Given the description of an element on the screen output the (x, y) to click on. 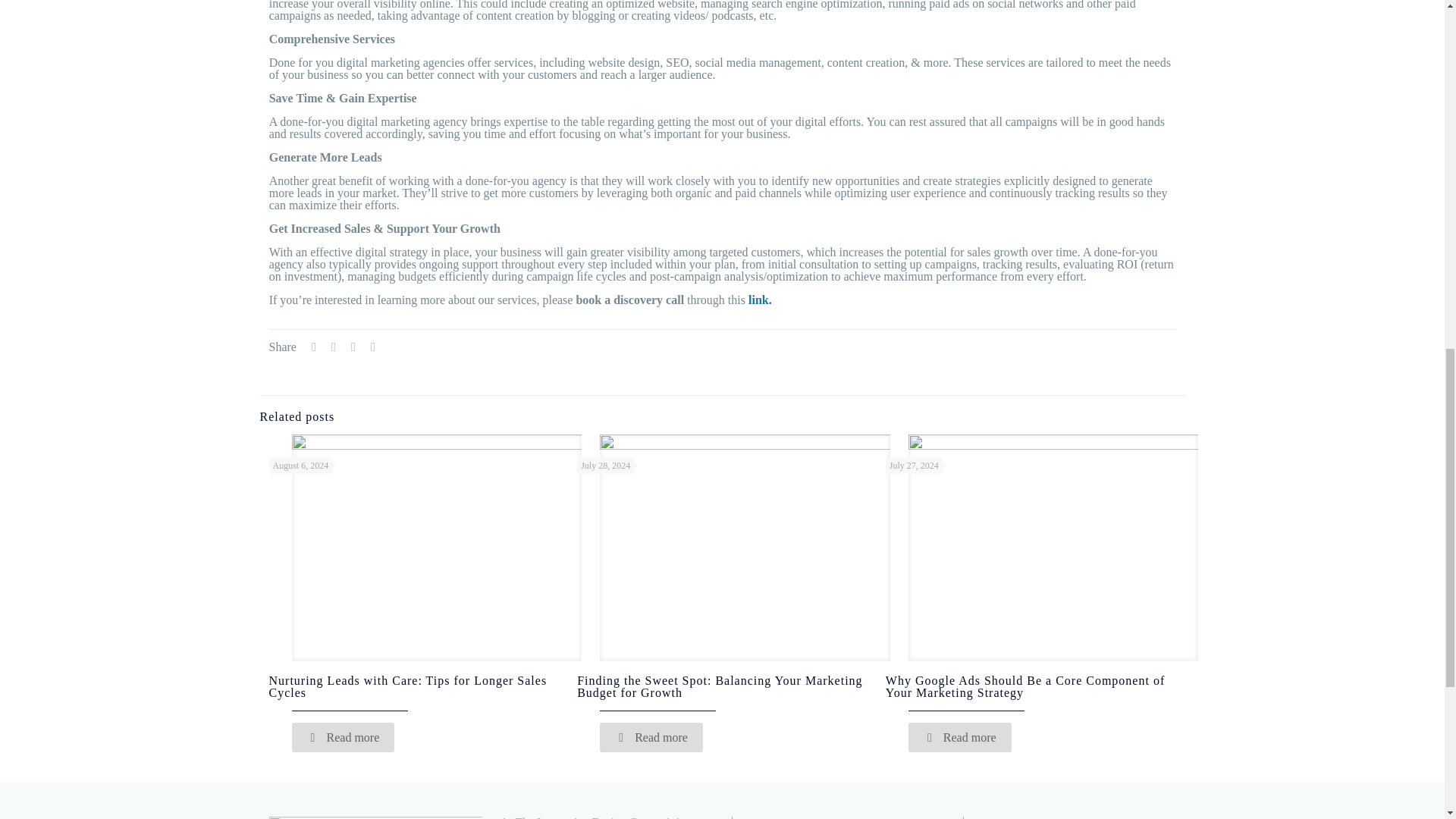
link. (759, 299)
Read more (342, 737)
Nurturing Leads with Care: Tips for Longer Sales Cycles (407, 686)
